Given the description of an element on the screen output the (x, y) to click on. 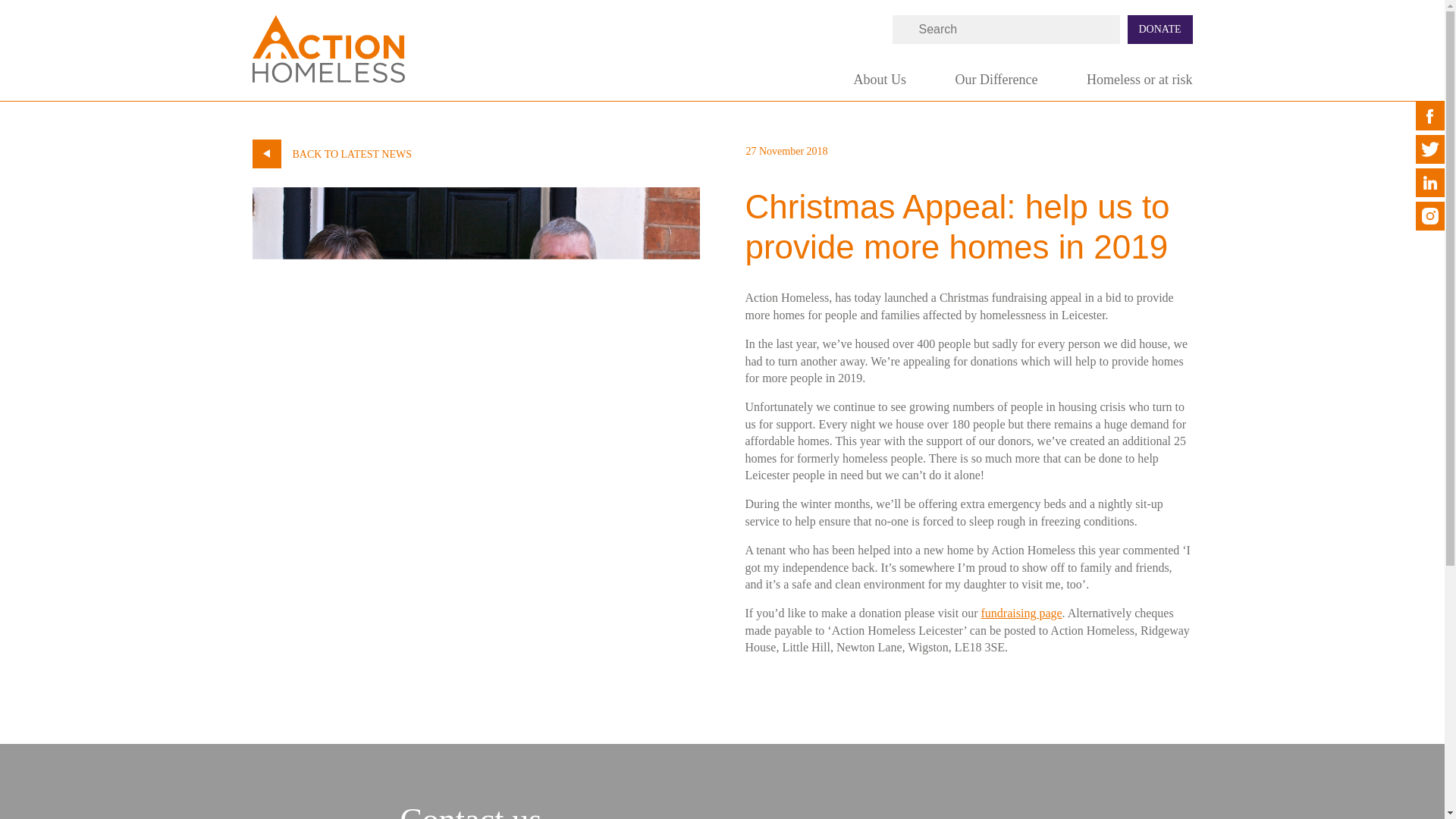
Our Difference (995, 85)
Homeless or at risk (1139, 85)
Search (5, 2)
DONATE (1159, 29)
About Us (879, 85)
